Given the description of an element on the screen output the (x, y) to click on. 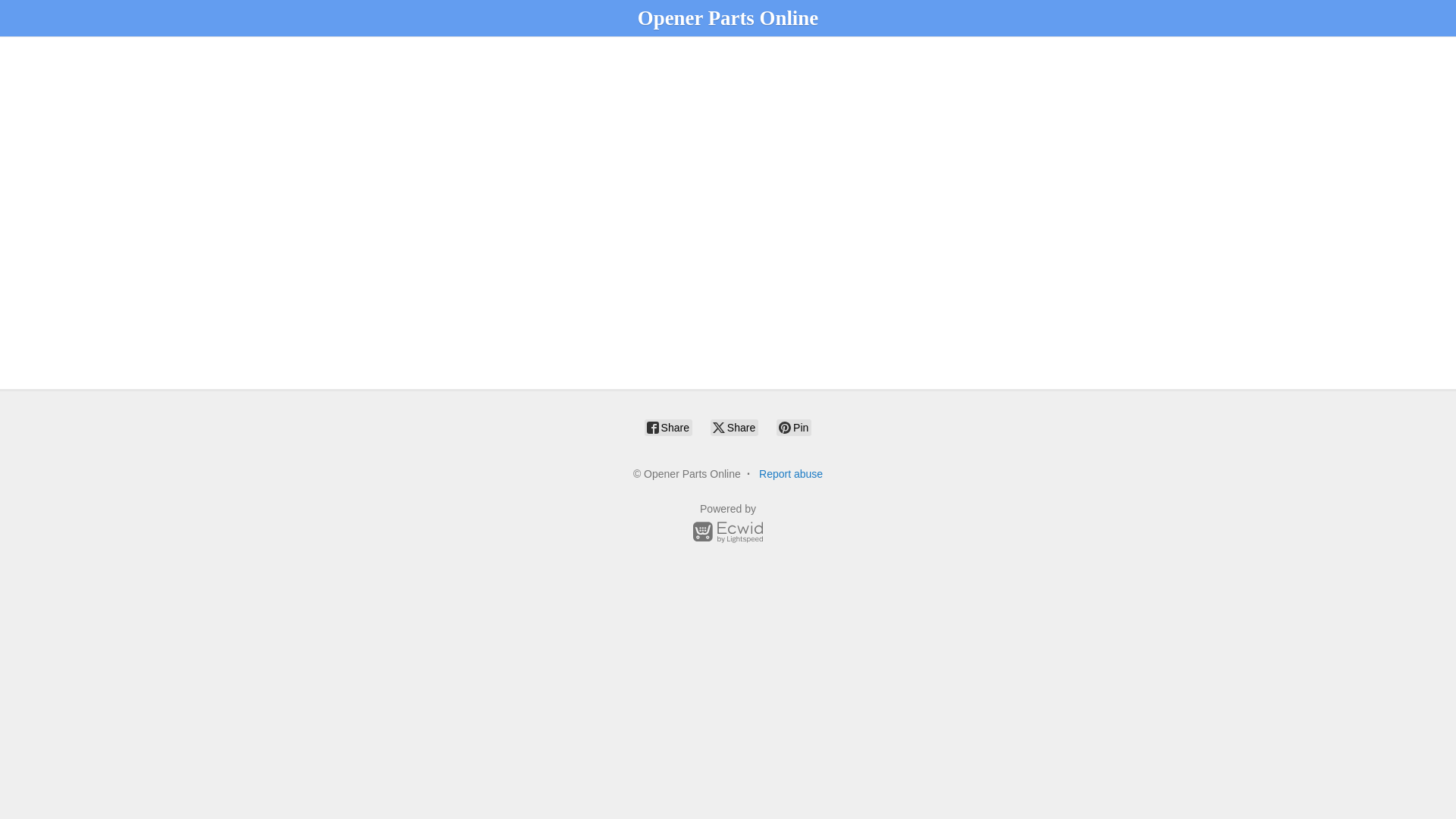
Powered by (727, 525)
Report abuse (790, 473)
Share (669, 427)
Opener Parts Online (727, 17)
Pin (793, 427)
Share (734, 427)
